Given the description of an element on the screen output the (x, y) to click on. 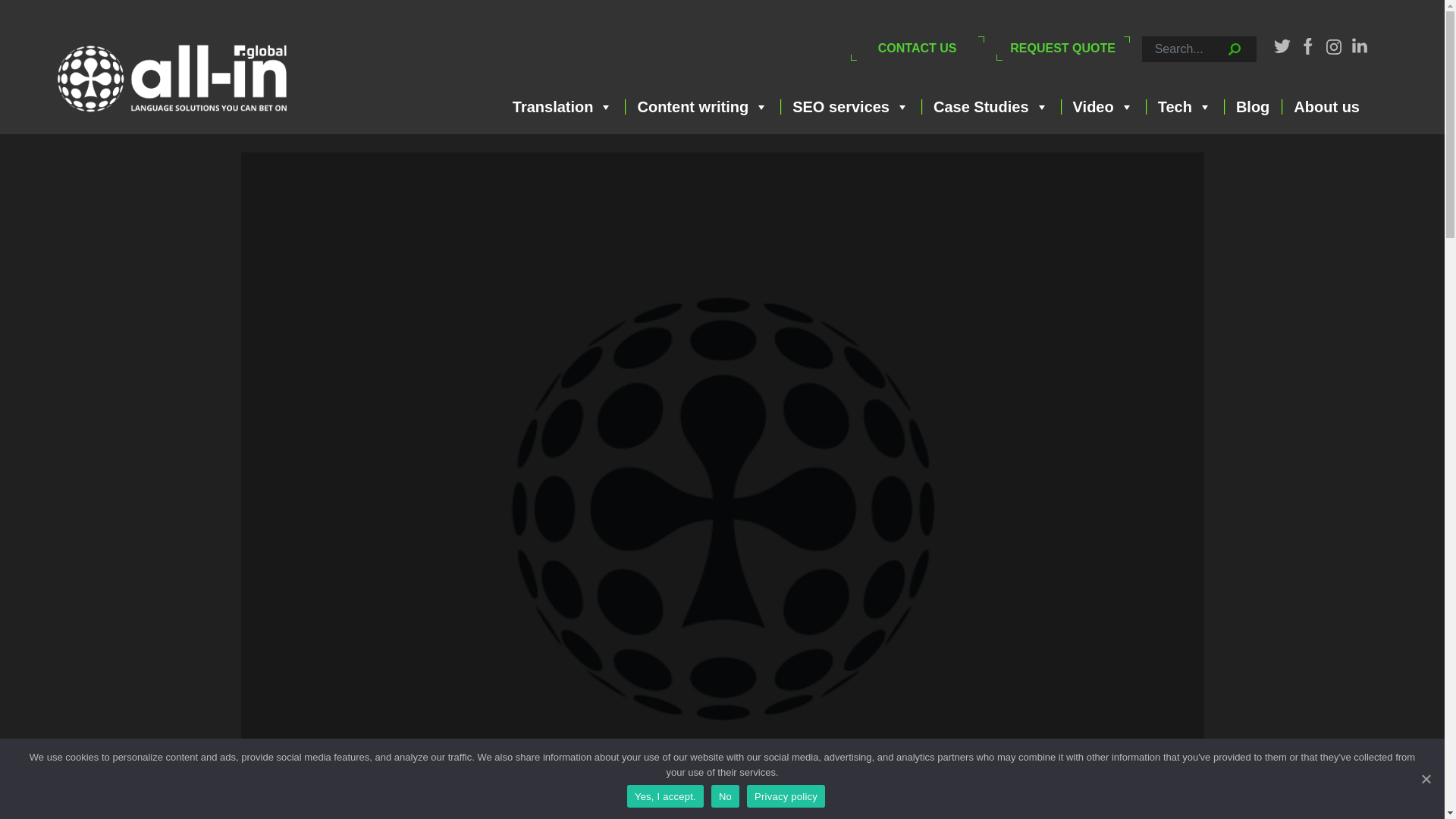
CONTACT US (917, 48)
REQUEST QUOTE (1062, 48)
Search (1150, 66)
Video (1103, 106)
Content writing (703, 106)
Search (1150, 66)
Translation (563, 106)
Case Studies (991, 106)
SEO services (850, 106)
